Given the description of an element on the screen output the (x, y) to click on. 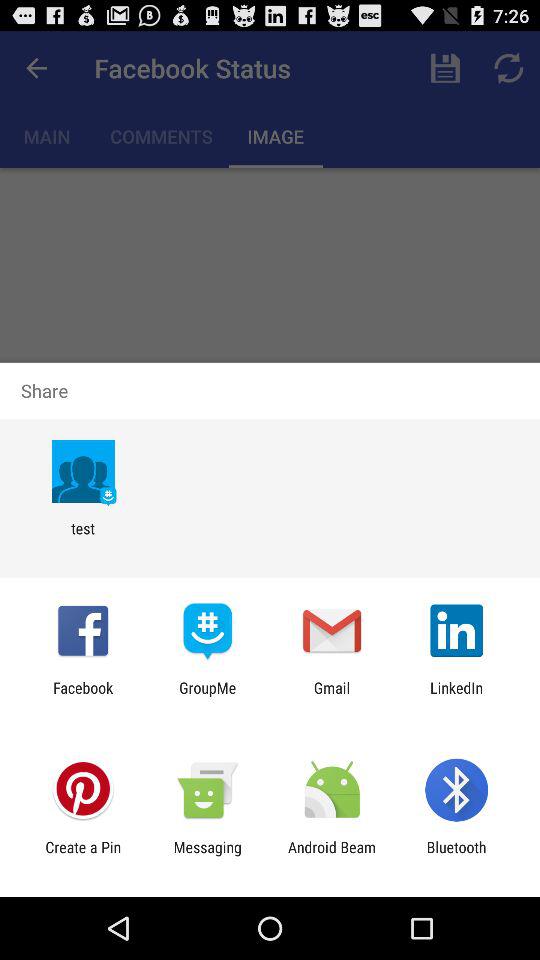
press app next to the android beam (456, 856)
